Given the description of an element on the screen output the (x, y) to click on. 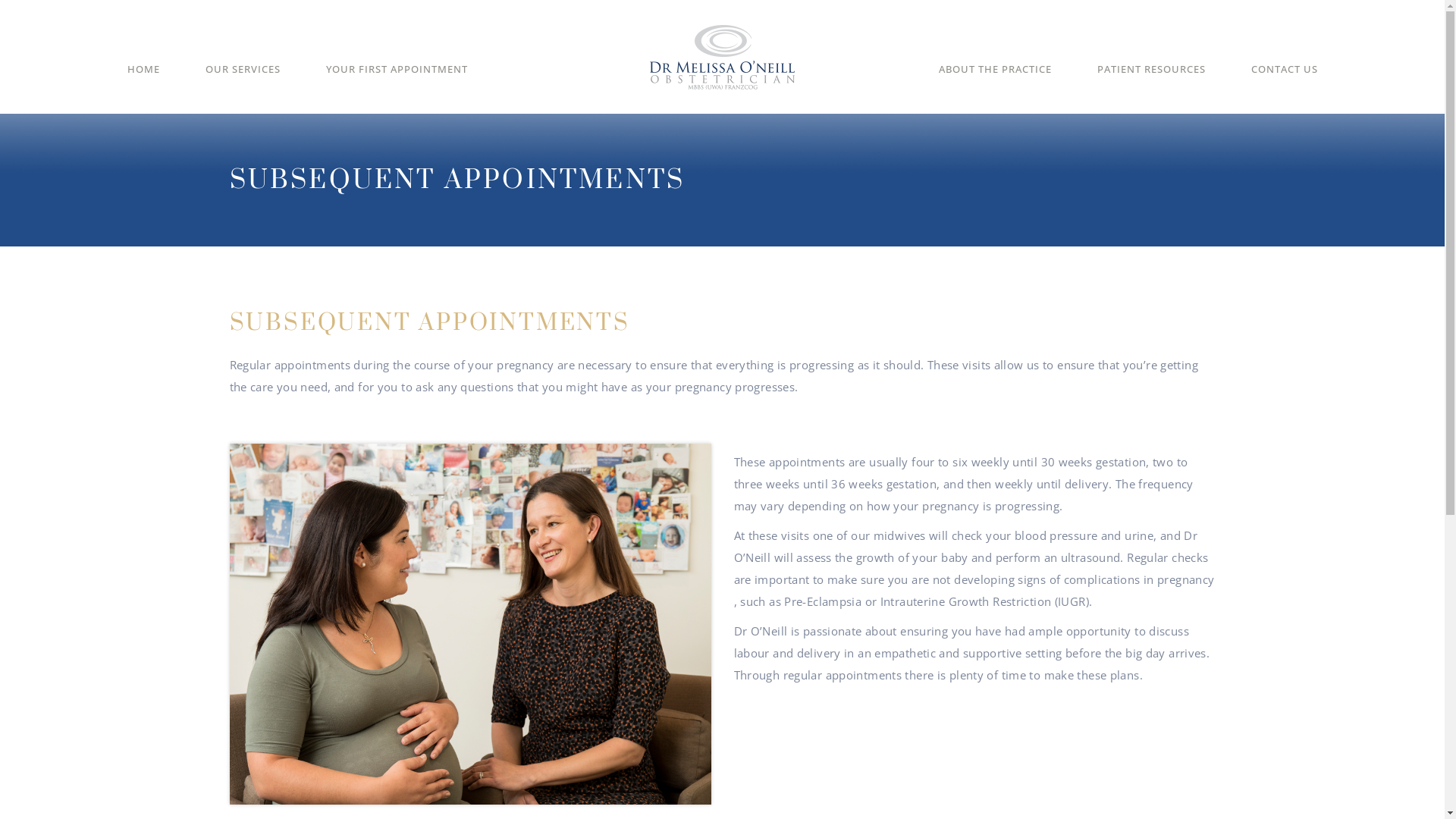
ABOUT THE PRACTICE Element type: text (994, 79)
OUR SERVICES Element type: text (241, 79)
PATIENT RESOURCES Element type: text (1150, 79)
CONTACT US Element type: text (1284, 79)
YOUR FIRST APPOINTMENT Element type: text (396, 79)
HOME Element type: text (143, 79)
